Given the description of an element on the screen output the (x, y) to click on. 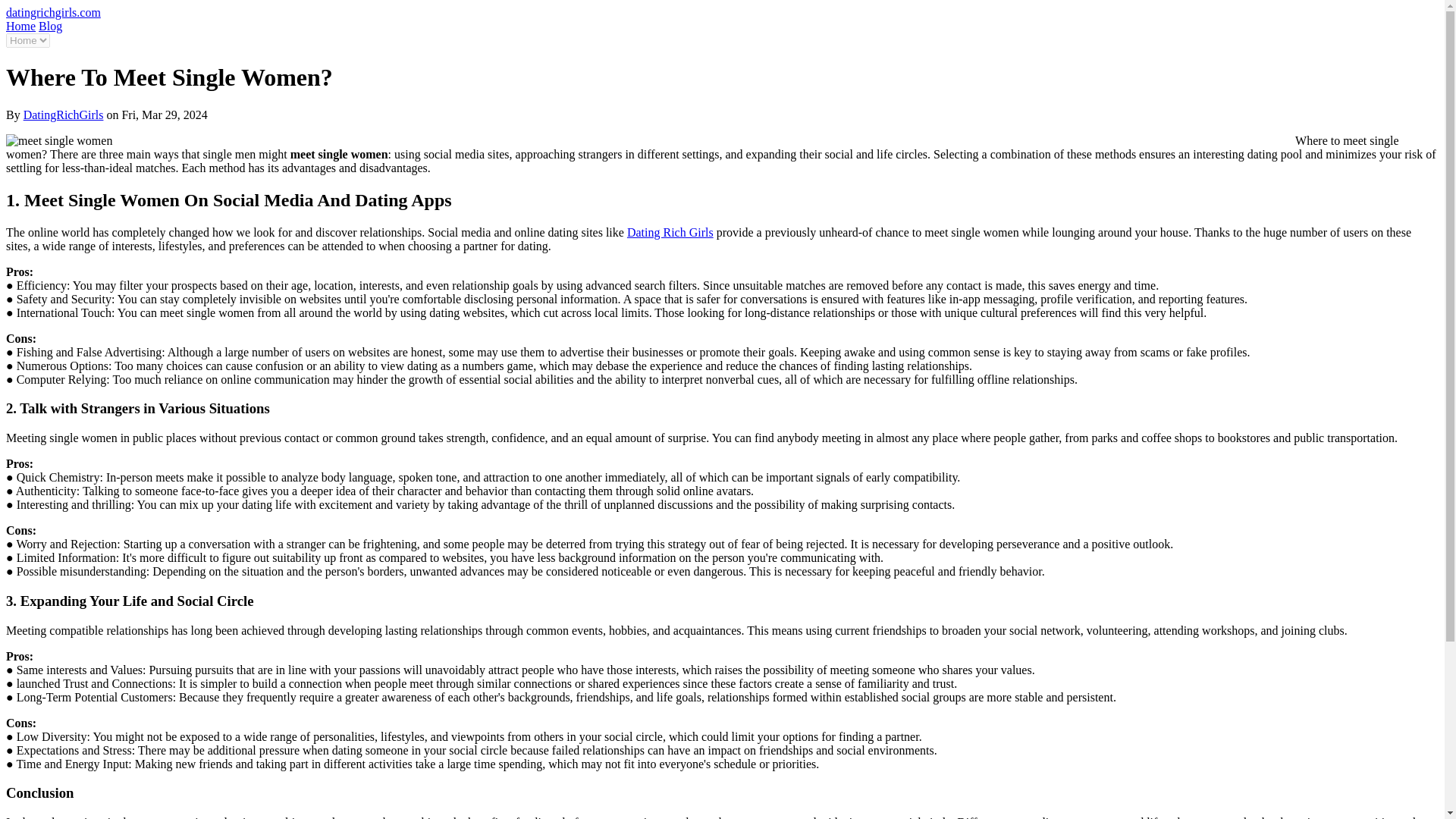
Dating Rich Girls (670, 232)
Blog (50, 25)
datingrichgirls.com (52, 11)
DatingRichGirls (63, 114)
Home (19, 25)
